Given the description of an element on the screen output the (x, y) to click on. 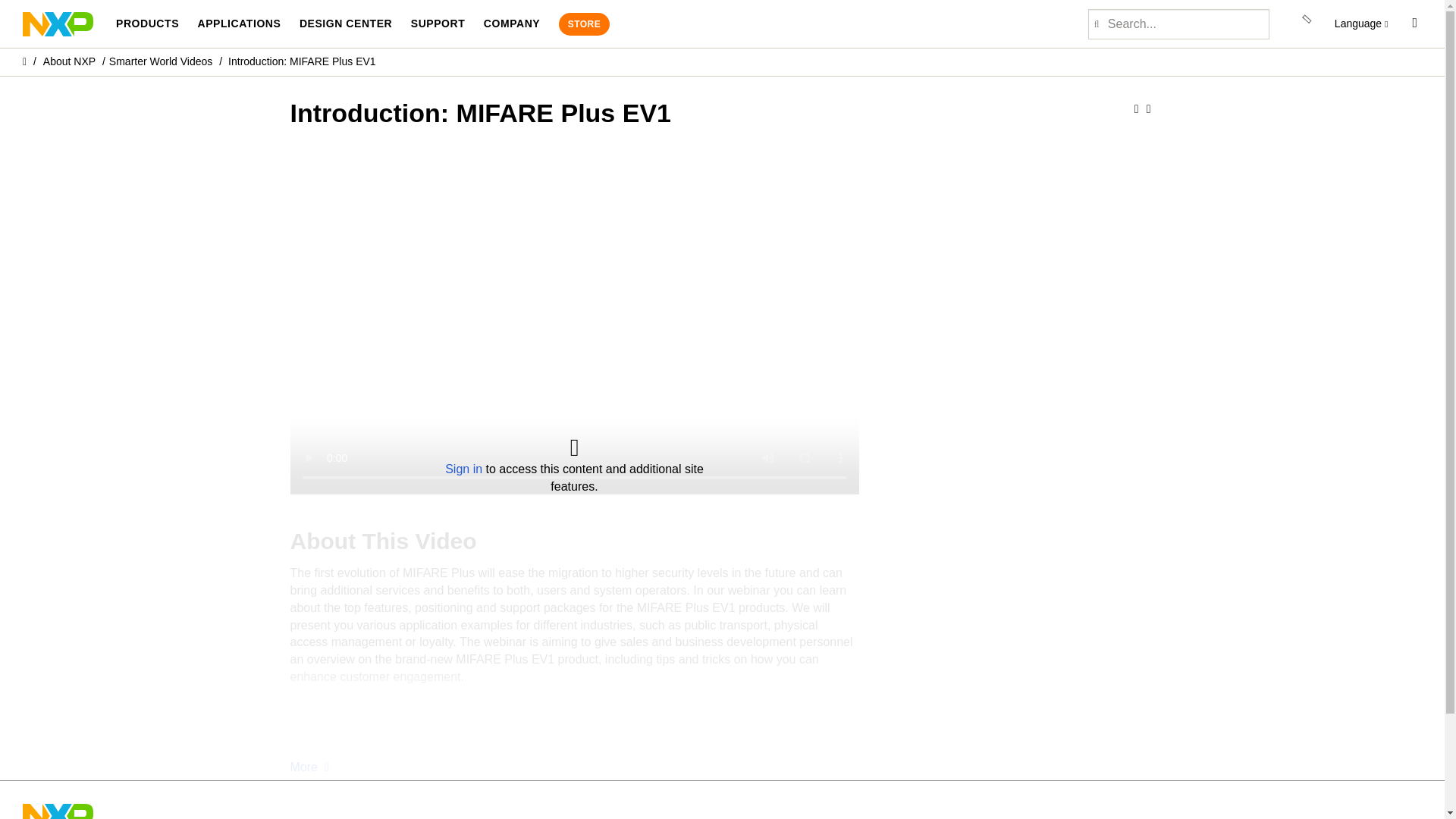
COMPANY (511, 23)
STORE (584, 24)
Language  (1361, 23)
PRODUCTS (147, 23)
SUPPORT (437, 23)
DESIGN CENTER (345, 23)
APPLICATIONS (238, 23)
NXP Semiconductor (58, 23)
Smarter World Videos (160, 61)
About NXP (69, 61)
